Given the description of an element on the screen output the (x, y) to click on. 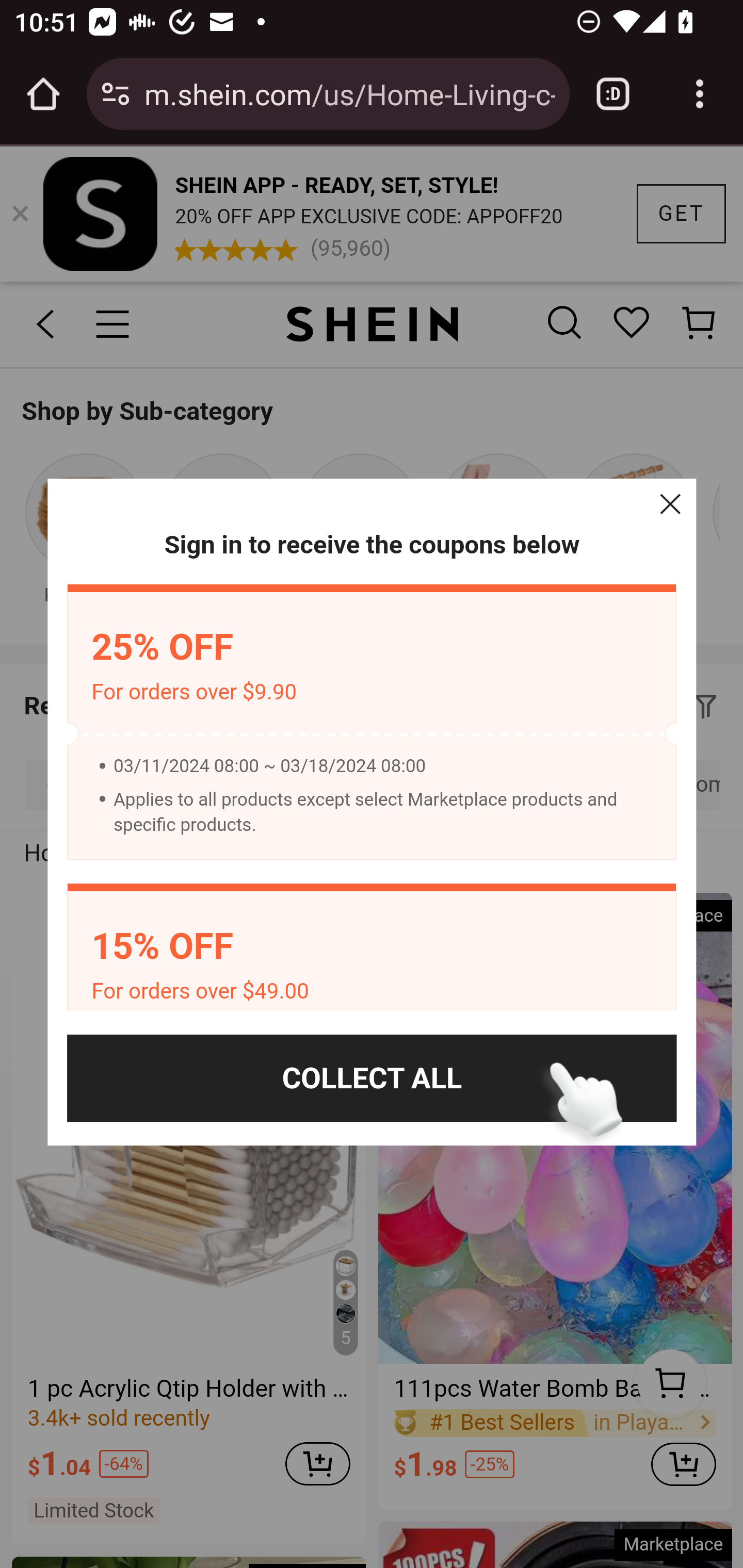
Open the home page (43, 93)
Connection is secure (115, 93)
Switch or close tabs (612, 93)
Customize and control Google Chrome (699, 93)
Close (669, 503)
COLLECT ALL (371, 1077)
